Given the description of an element on the screen output the (x, y) to click on. 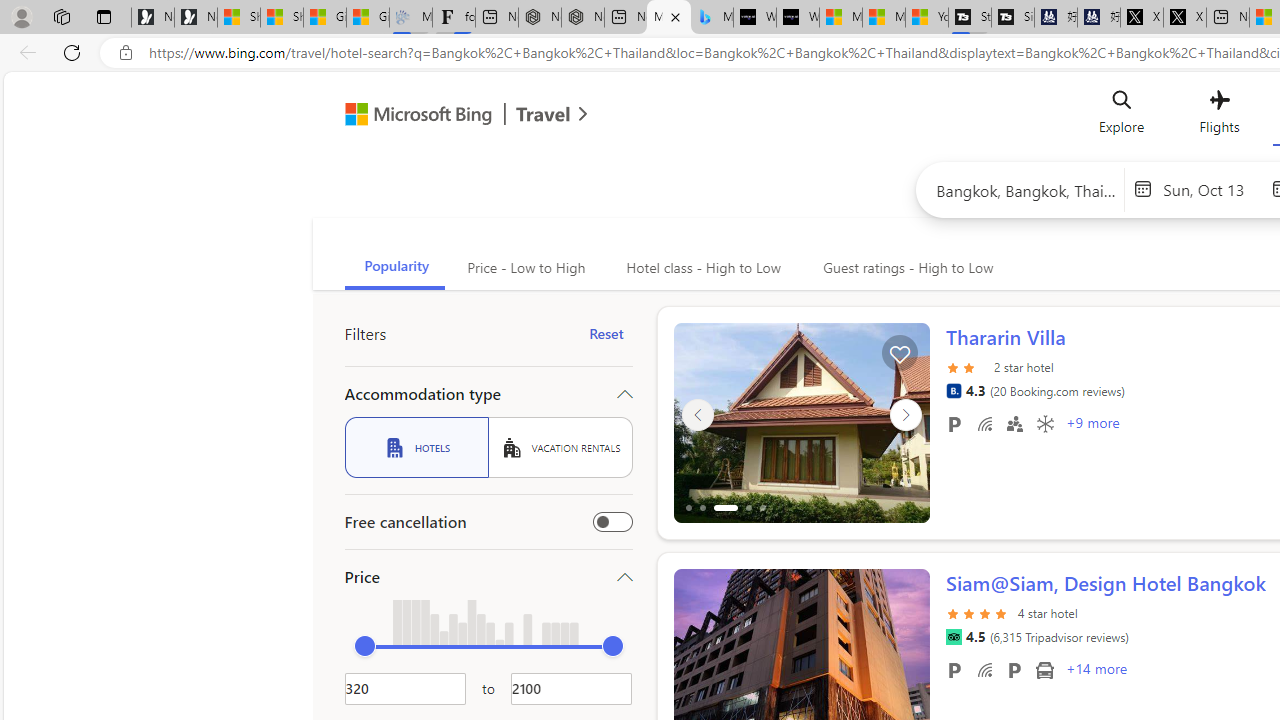
ScrollRight (905, 660)
Microsoft Bing Travel - Stays in Bangkok, Bangkok, Thailand (668, 17)
Price (488, 576)
